Given the description of an element on the screen output the (x, y) to click on. 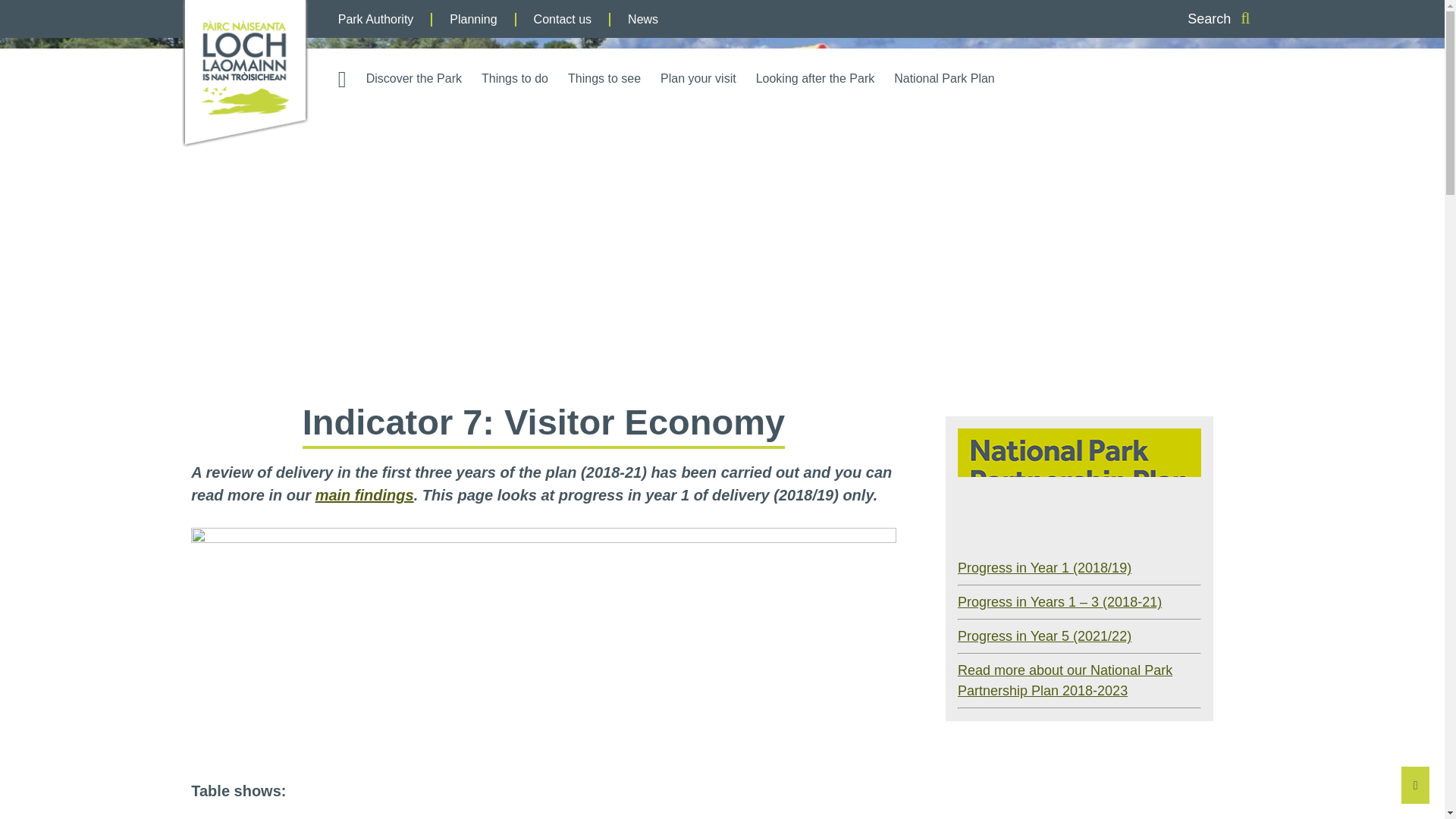
main findings (364, 494)
Read more about our National Park Partnership Plan 2018-2023 (1065, 680)
Things to do (514, 80)
Search (1218, 19)
Discover the Park (413, 80)
